Given the description of an element on the screen output the (x, y) to click on. 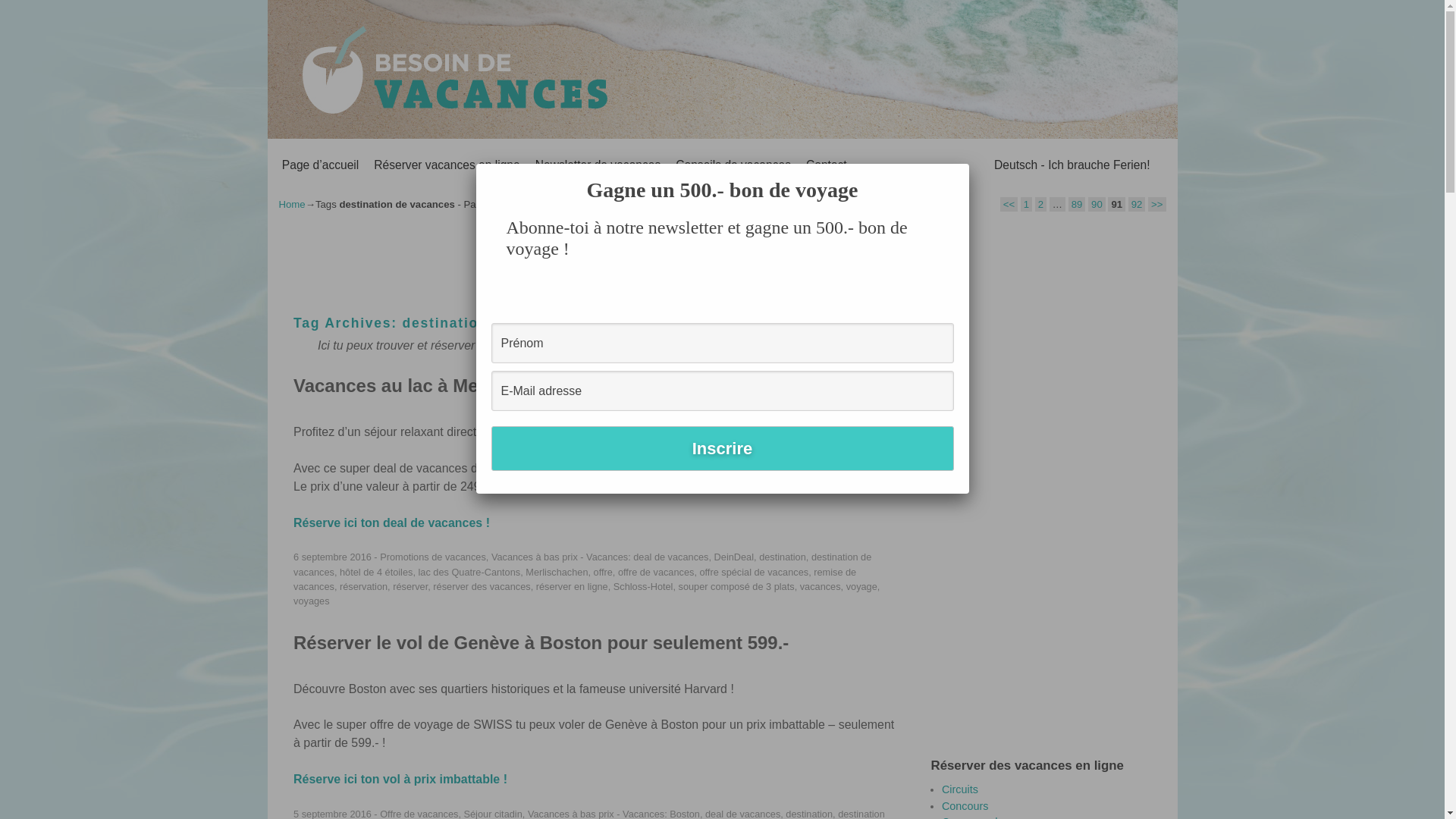
Deutsch - Ich brauche Ferien! Element type: text (1071, 164)
92 Element type: text (1136, 204)
>> Element type: text (1156, 204)
89 Element type: text (1076, 204)
Inscrire Element type: text (722, 448)
Contact Element type: text (826, 164)
Advertisement Element type: hover (552, 259)
lac des Quatre-Cantons Element type: text (469, 571)
Newsletter de vacances Element type: text (597, 164)
vacances Element type: text (820, 586)
deal de vacances Element type: text (670, 556)
destination de vacances Element type: text (582, 564)
Schloss-Hotel Element type: text (643, 586)
Concours Element type: text (964, 806)
offre de vacances Element type: text (655, 571)
Conseils de vacances Element type: text (733, 164)
Promotions de vacances Element type: text (432, 556)
Skip to secondary content Element type: text (318, 145)
6 septembre 2016 Element type: text (332, 556)
1 Element type: text (1026, 204)
2 Element type: text (1040, 204)
offre Element type: text (602, 571)
Merlischachen Element type: text (556, 571)
destination Element type: text (782, 556)
voyage Element type: text (861, 586)
Advertisement Element type: hover (1044, 484)
voyages Element type: text (311, 600)
90 Element type: text (1096, 204)
Close Element type: hover (966, 165)
<< Element type: text (1008, 204)
Home Element type: text (292, 204)
DeinDeal Element type: text (733, 556)
Circuits Element type: text (959, 789)
Skip to primary content Element type: text (313, 145)
remise de vacances Element type: text (574, 579)
